Given the description of an element on the screen output the (x, y) to click on. 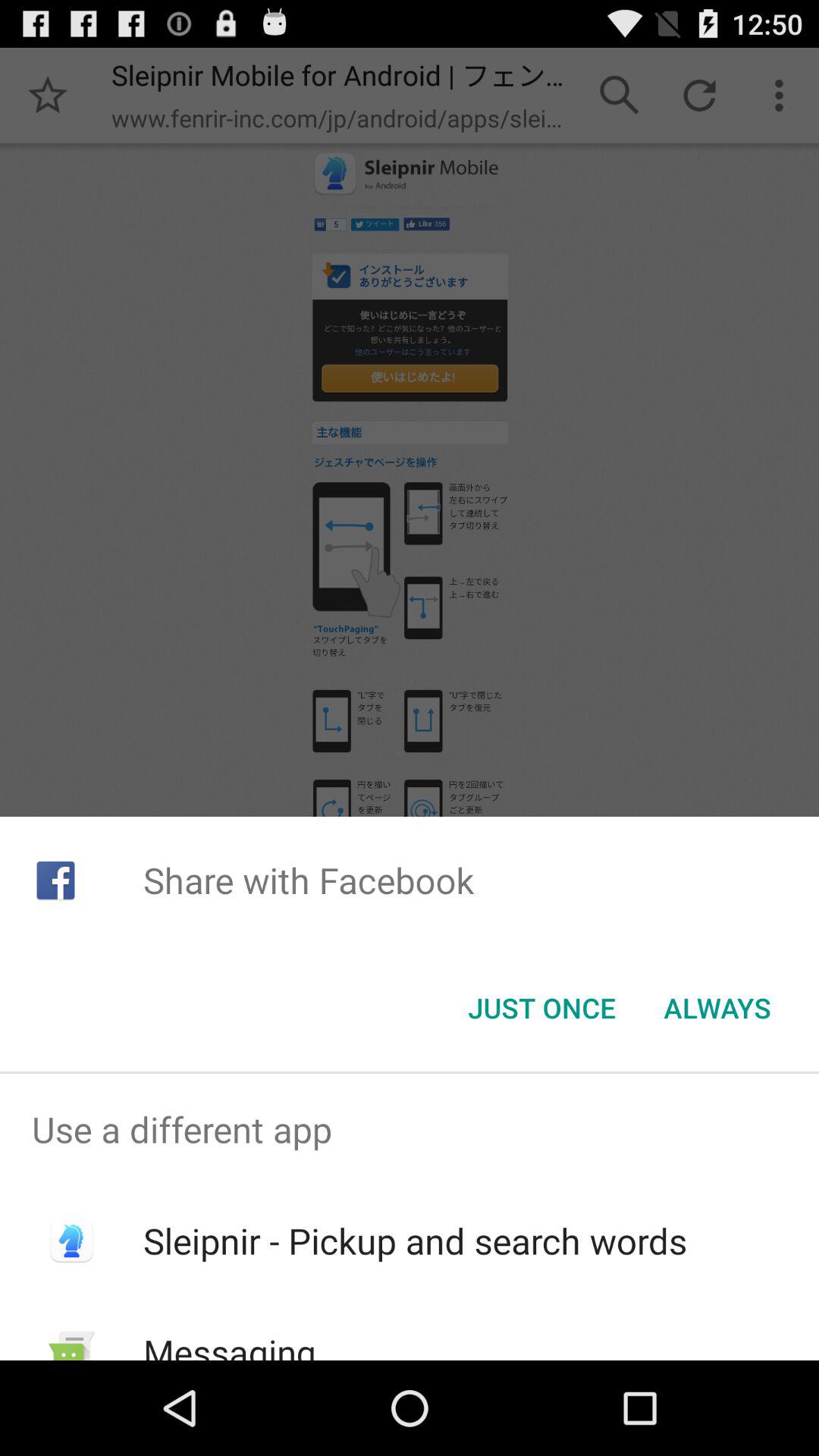
launch app below the use a different icon (415, 1240)
